Given the description of an element on the screen output the (x, y) to click on. 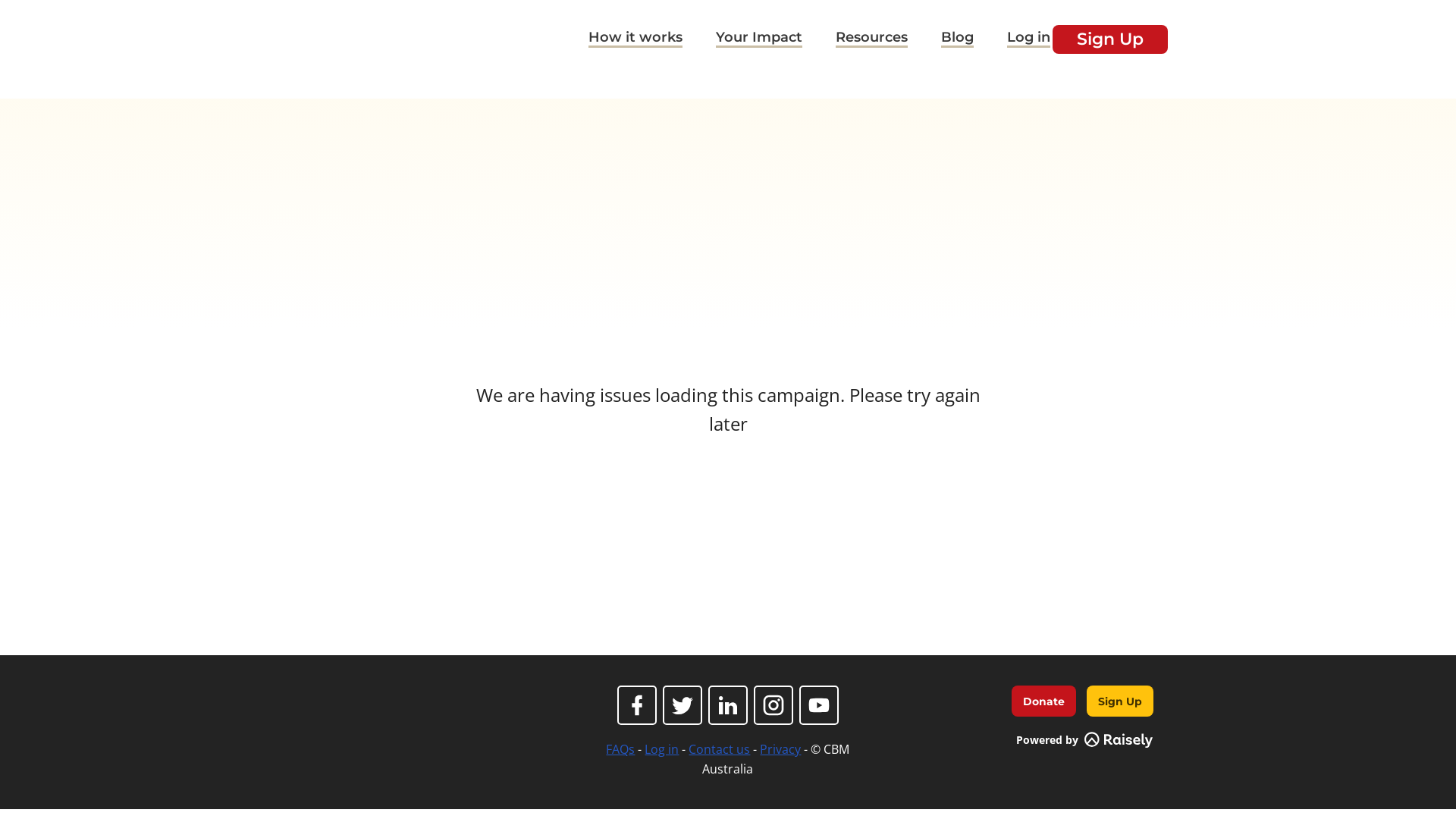
FAQs Element type: text (619, 748)
Sign Up Element type: text (1109, 38)
Sign Up Element type: text (1119, 700)
Find us on YouTube Element type: hover (818, 704)
Log in Element type: text (661, 748)
Log in Element type: text (1028, 38)
Your Impact Element type: text (759, 38)
Find us on Twitter Element type: hover (682, 704)
Contact us Element type: text (718, 748)
Donate Element type: text (1043, 700)
Resources Element type: text (871, 38)
Blog Element type: text (957, 38)
Find us on Instagram Element type: hover (773, 704)
Privacy Element type: text (779, 748)
Find us on Facebook Element type: hover (636, 704)
Find us on Linkedin Element type: hover (727, 704)
How it works Element type: text (635, 38)
Powered by Element type: text (1084, 739)
